Given the description of an element on the screen output the (x, y) to click on. 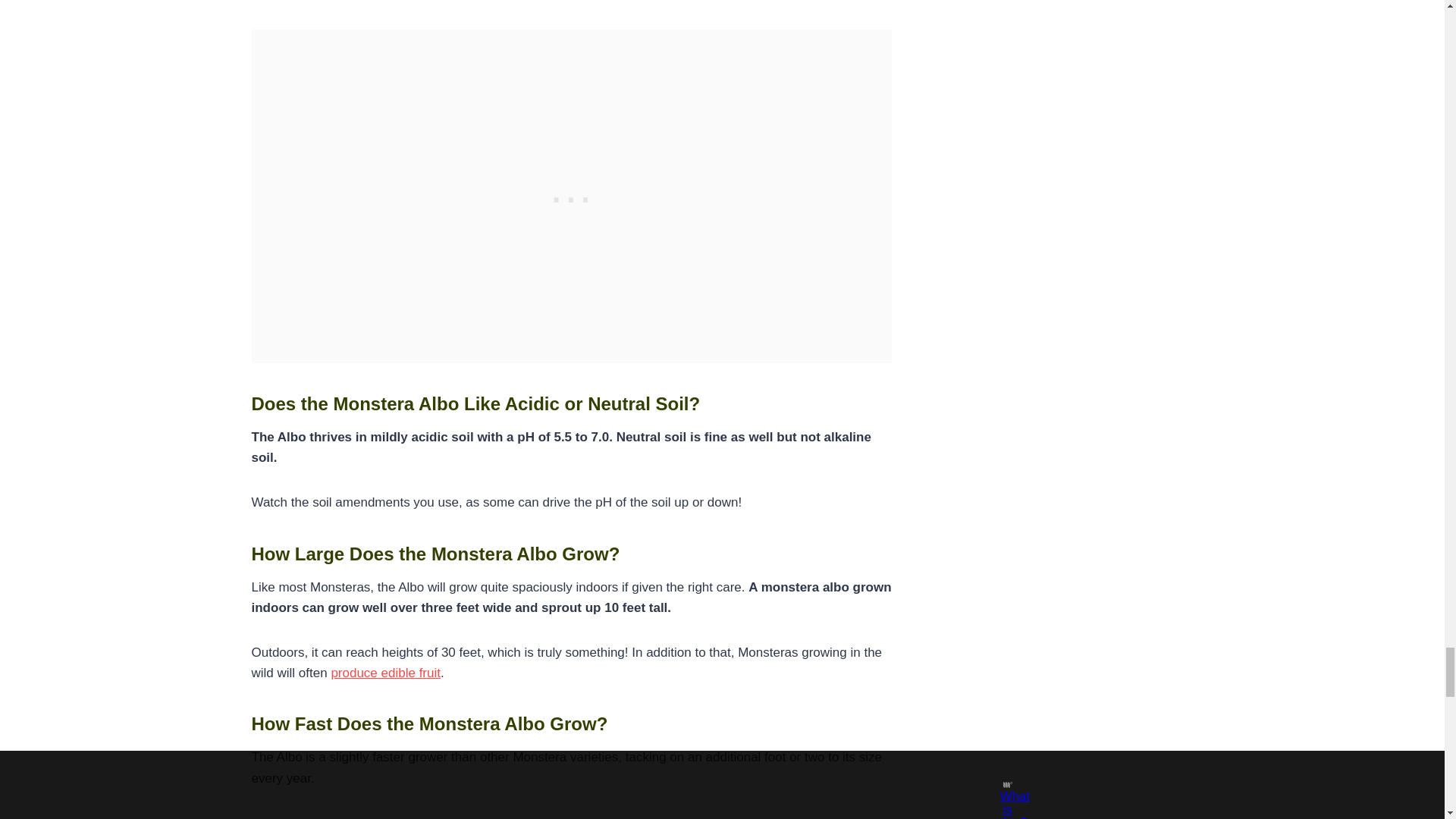
produce edible fruit (385, 672)
